Given the description of an element on the screen output the (x, y) to click on. 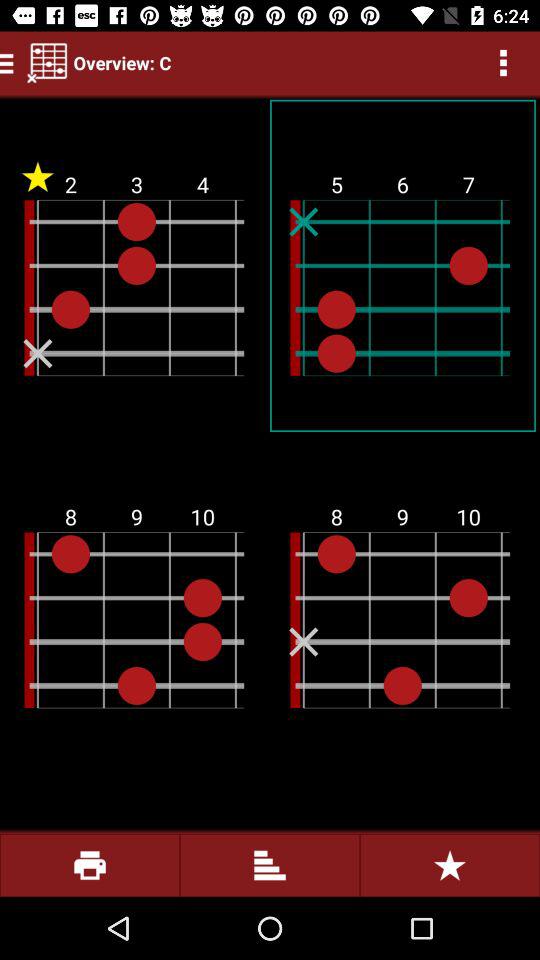
choose the item next to overview: c item (47, 62)
